Given the description of an element on the screen output the (x, y) to click on. 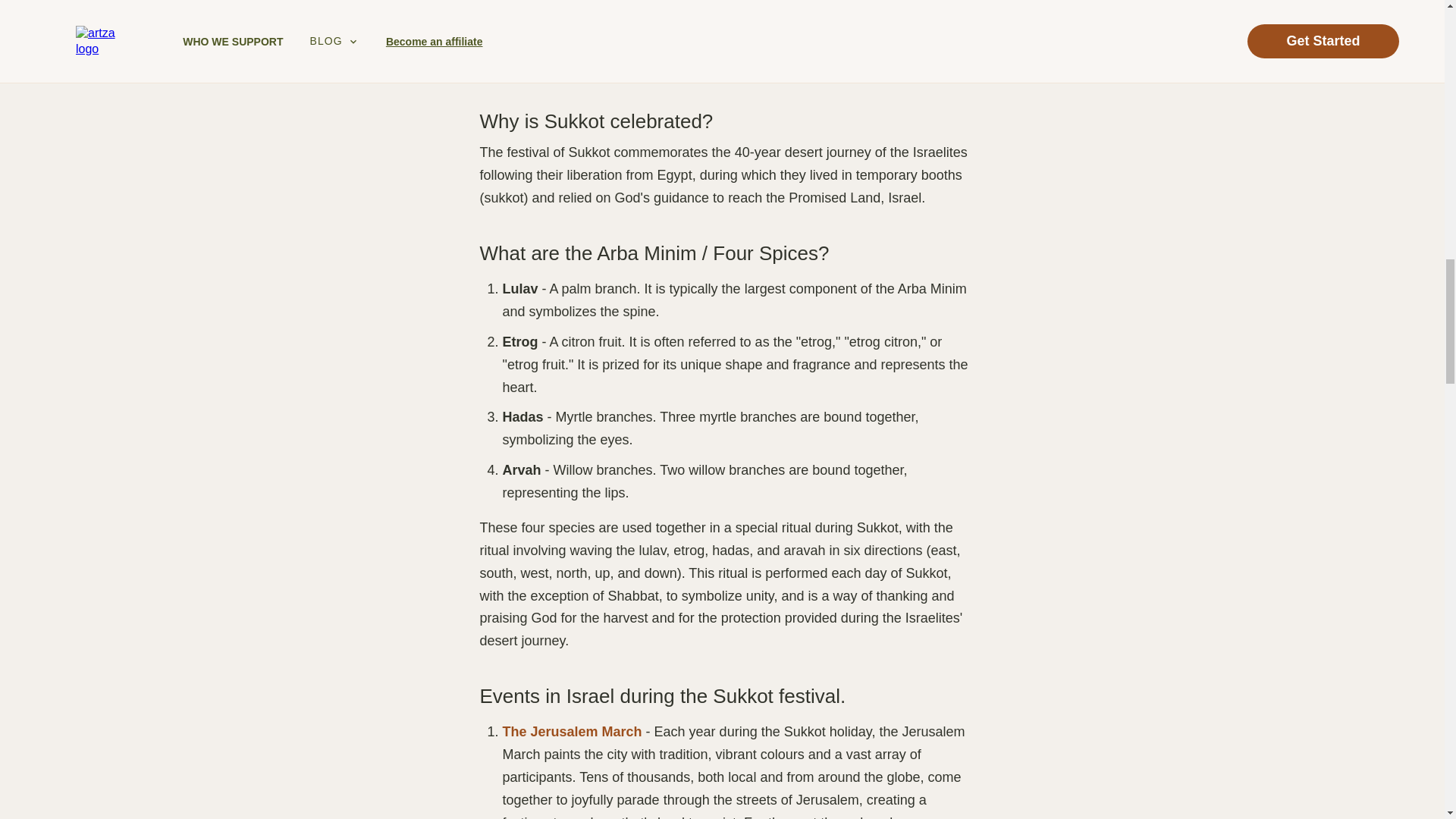
The Jerusalem March (572, 731)
